Given the description of an element on the screen output the (x, y) to click on. 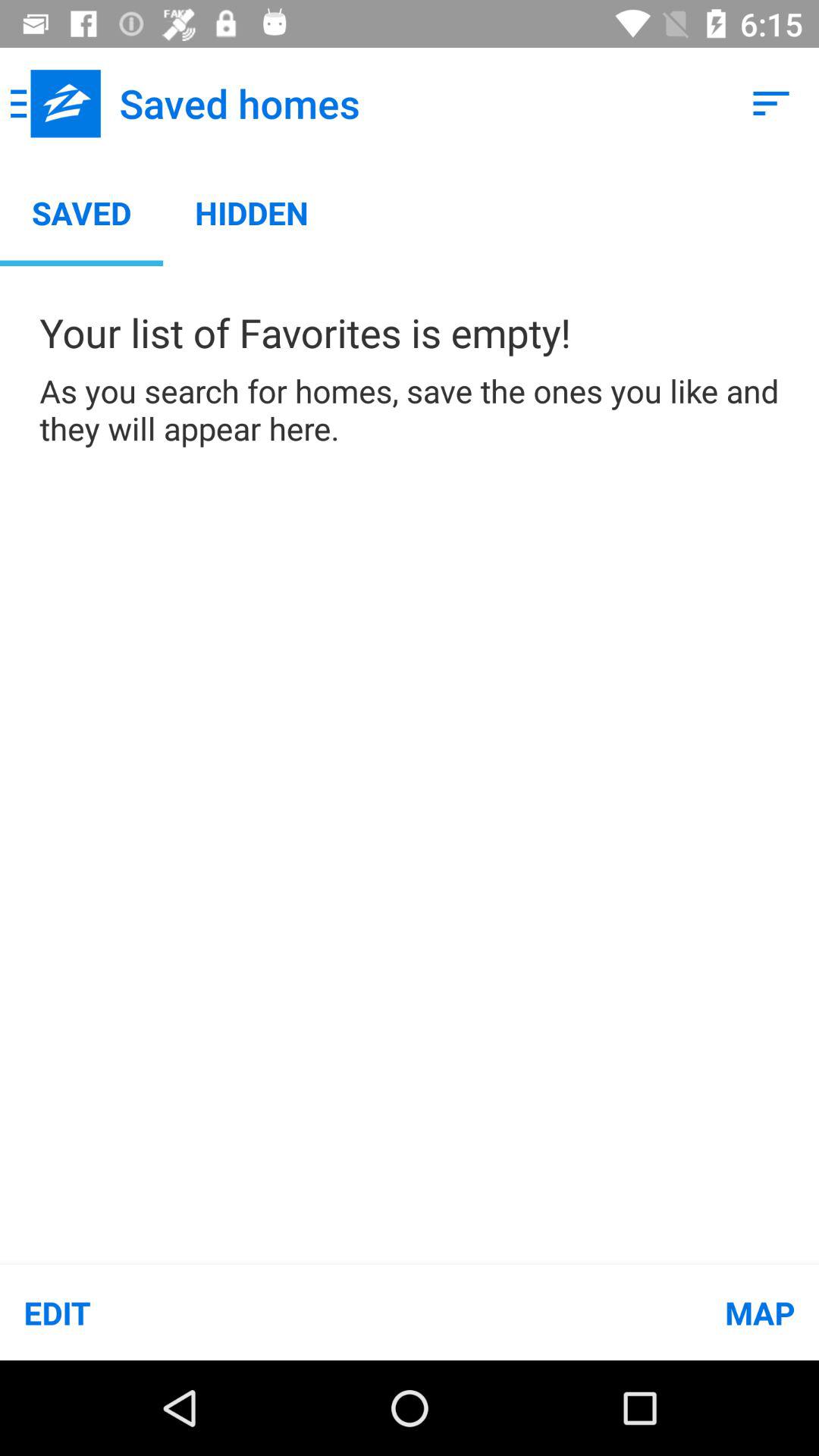
select app to the right of saved homes item (771, 103)
